Given the description of an element on the screen output the (x, y) to click on. 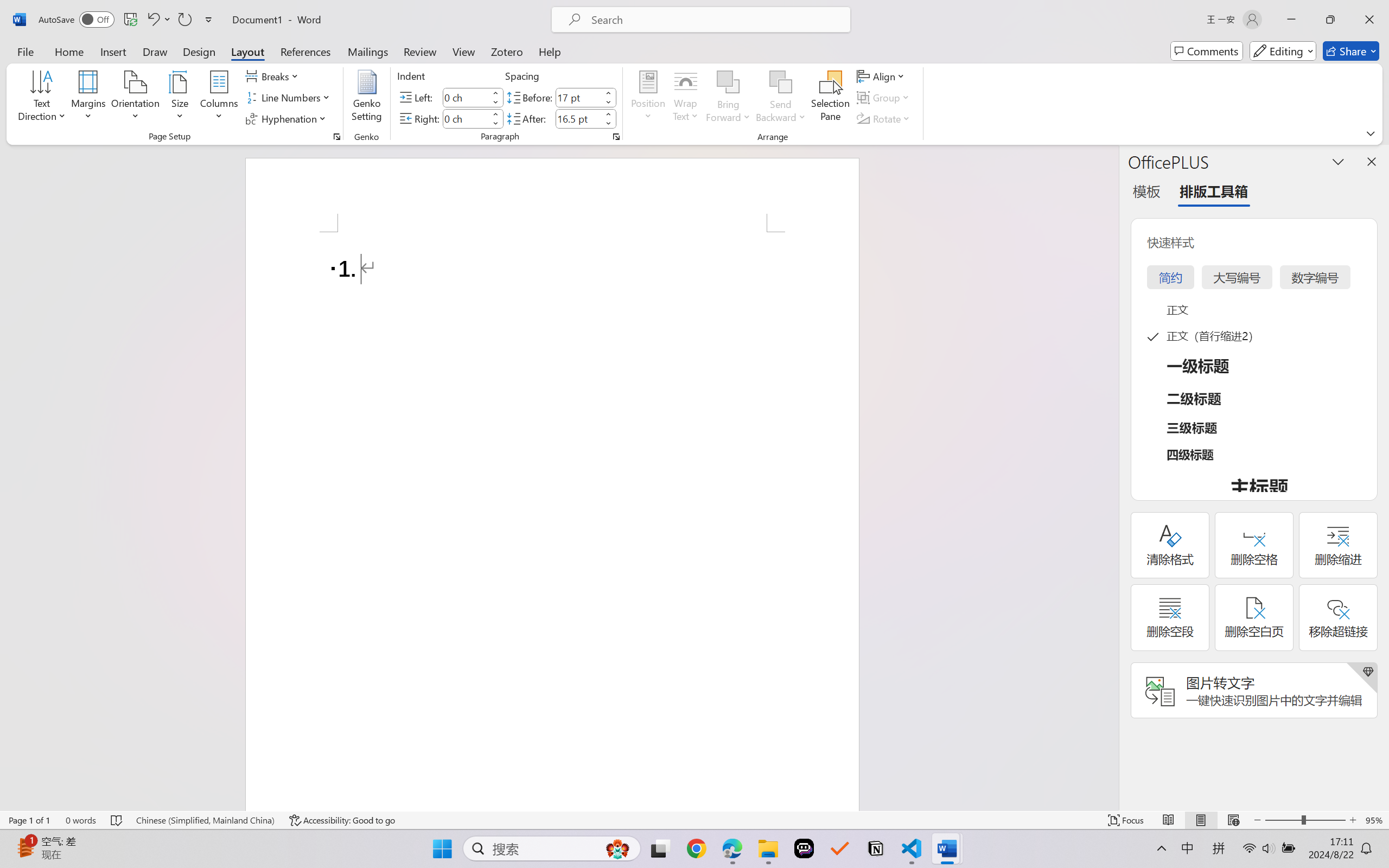
Send Backward (781, 81)
Hyphenation (287, 118)
Page Setup... (336, 136)
Repeat Doc Close (184, 19)
Spacing Before (578, 96)
Wrap Text (685, 97)
